Given the description of an element on the screen output the (x, y) to click on. 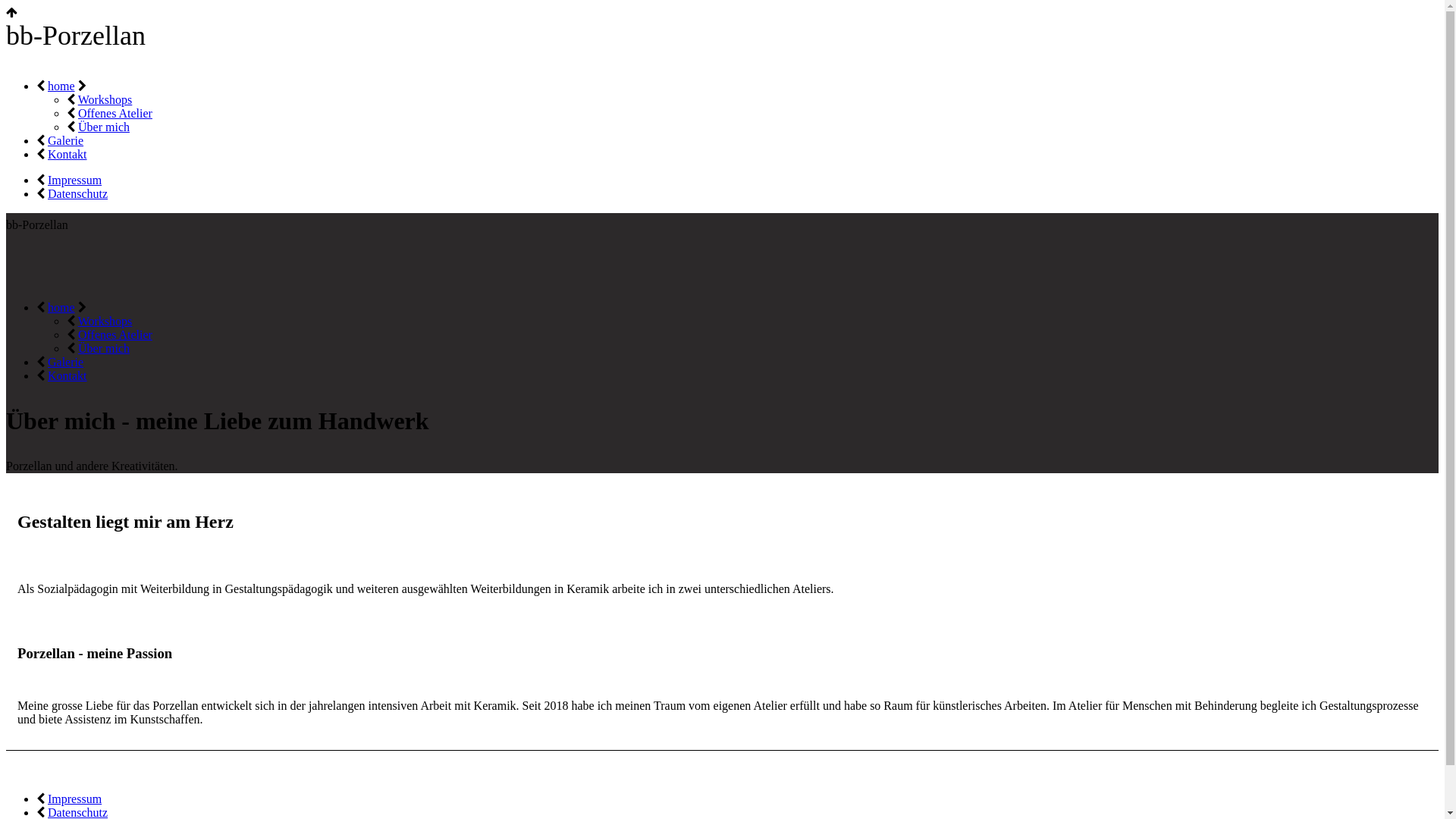
Kontakt Element type: text (67, 375)
Kontakt Element type: text (67, 153)
Impressum Element type: text (74, 179)
home Element type: text (61, 307)
Galerie Element type: text (65, 361)
Offenes Atelier Element type: text (115, 334)
Offenes Atelier Element type: text (115, 112)
Workshops Element type: text (105, 99)
Workshops Element type: text (105, 320)
home Element type: text (61, 85)
Datenschutz Element type: text (77, 193)
Galerie Element type: text (65, 140)
Impressum Element type: text (74, 798)
